Given the description of an element on the screen output the (x, y) to click on. 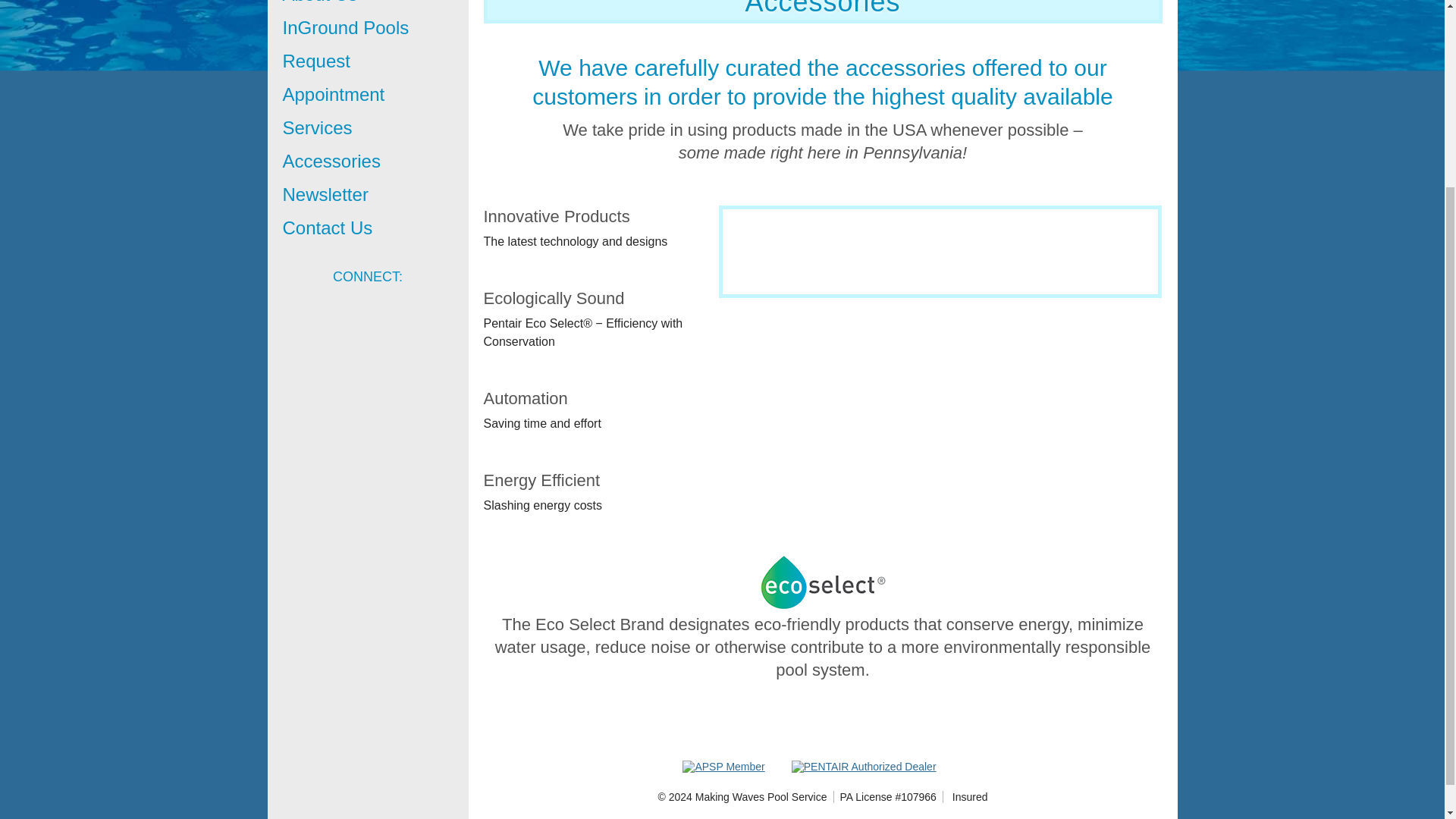
Newsletter (367, 194)
Accessories (367, 161)
Request Appointment (367, 78)
Contact Us (367, 227)
About Us (367, 5)
Services (367, 127)
InGround Pools (367, 28)
